Given the description of an element on the screen output the (x, y) to click on. 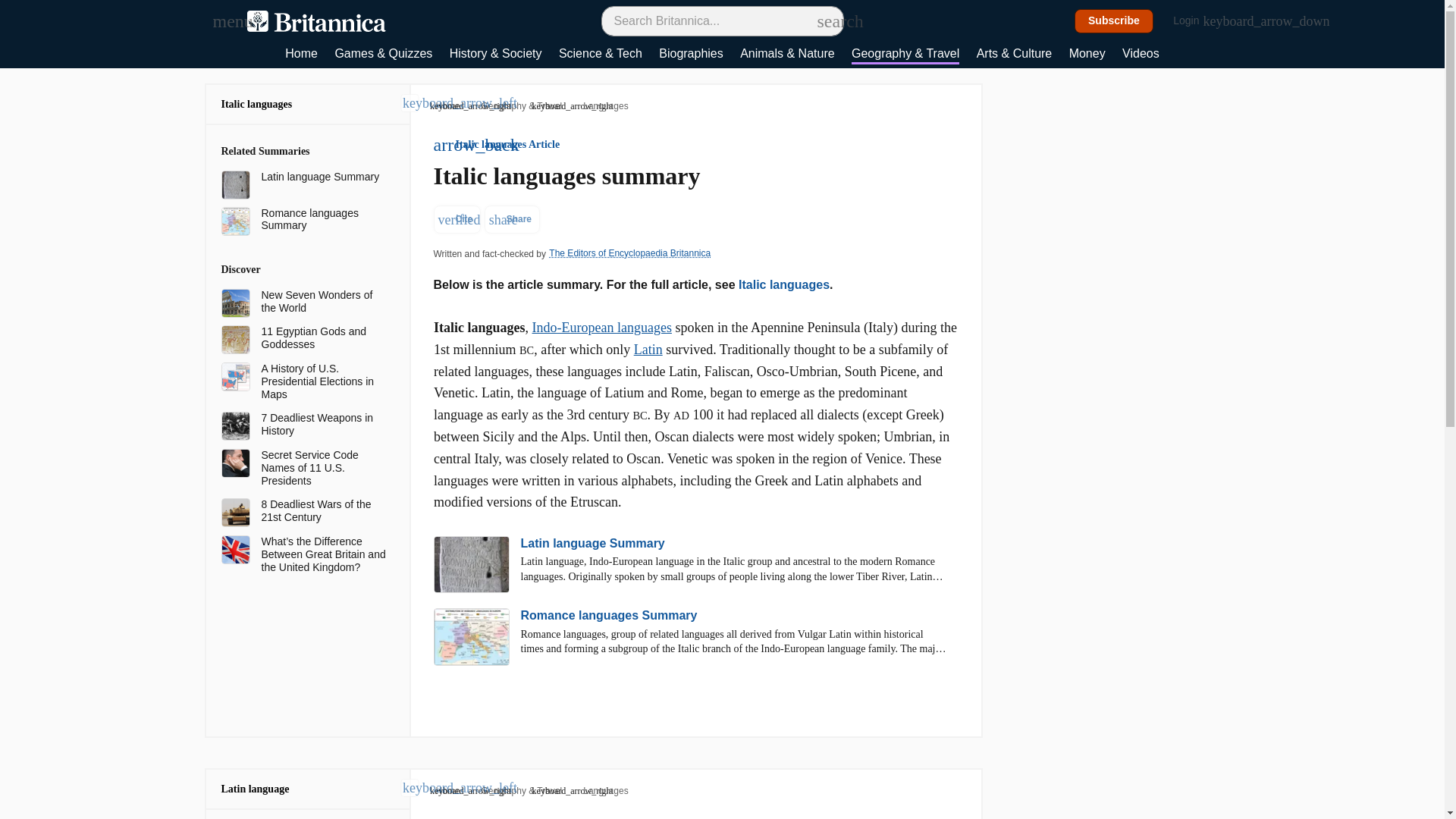
Romance languages Summary (325, 219)
7 Deadliest Weapons in History (325, 424)
8 Deadliest Wars of the 21st Century (325, 510)
Click here to search (825, 20)
A History of U.S. Presidential Elections in Maps (325, 381)
Subscribe (1114, 21)
Login (1194, 20)
Italic languages (256, 103)
11 Egyptian Gods and Goddesses (325, 338)
Videos (1140, 54)
New Seven Wonders of the World (325, 301)
Secret Service Code Names of 11 U.S. Presidents (325, 467)
Biographies (691, 54)
Home (301, 54)
Latin language Summary (325, 176)
